Given the description of an element on the screen output the (x, y) to click on. 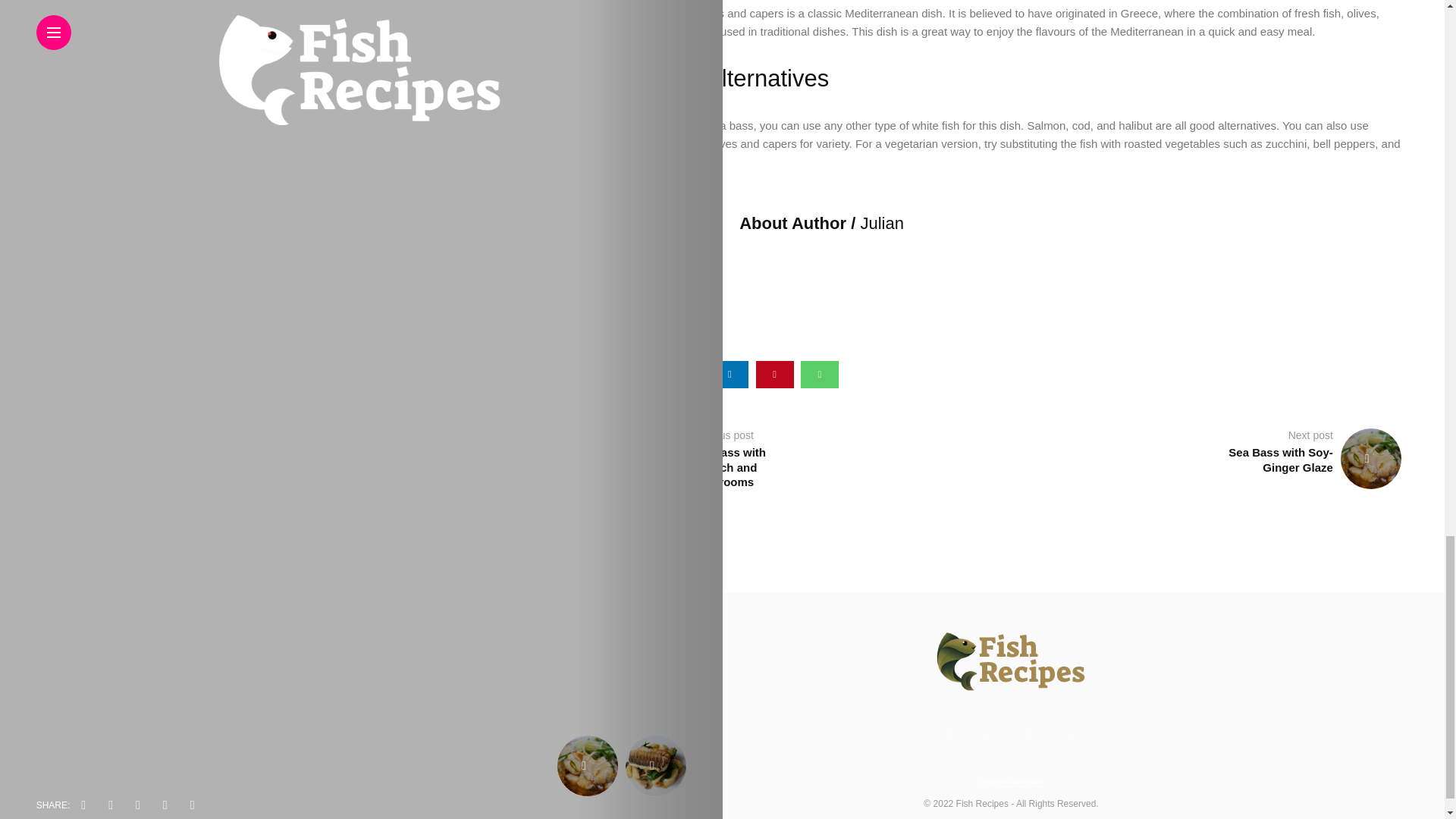
Posts by Julian (881, 222)
facebook (640, 374)
